Given the description of an element on the screen output the (x, y) to click on. 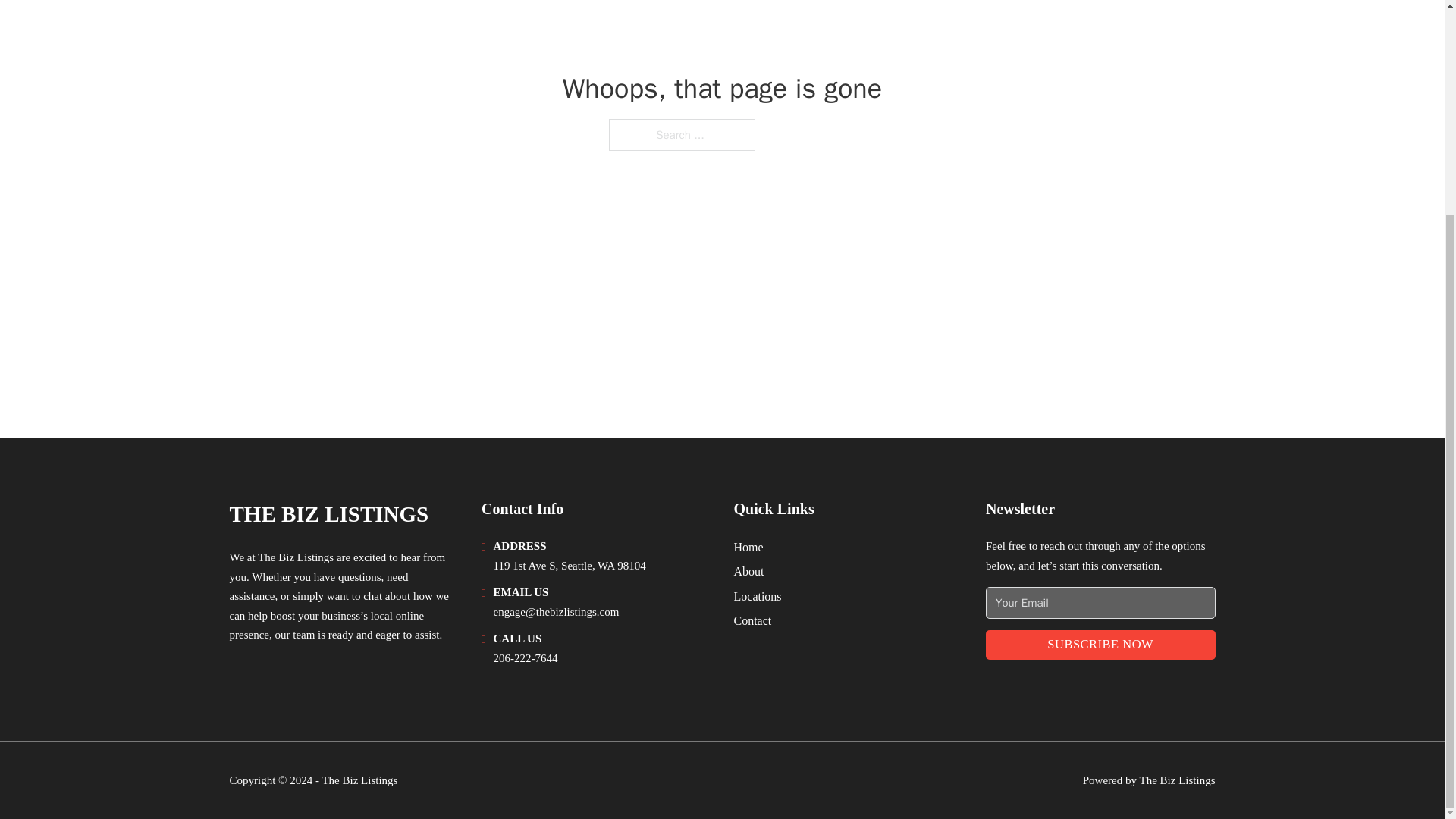
Home (747, 547)
Locations (757, 596)
THE BIZ LISTINGS (328, 514)
SUBSCRIBE NOW (1100, 644)
Contact (752, 620)
About (748, 571)
206-222-7644 (525, 657)
